Given the description of an element on the screen output the (x, y) to click on. 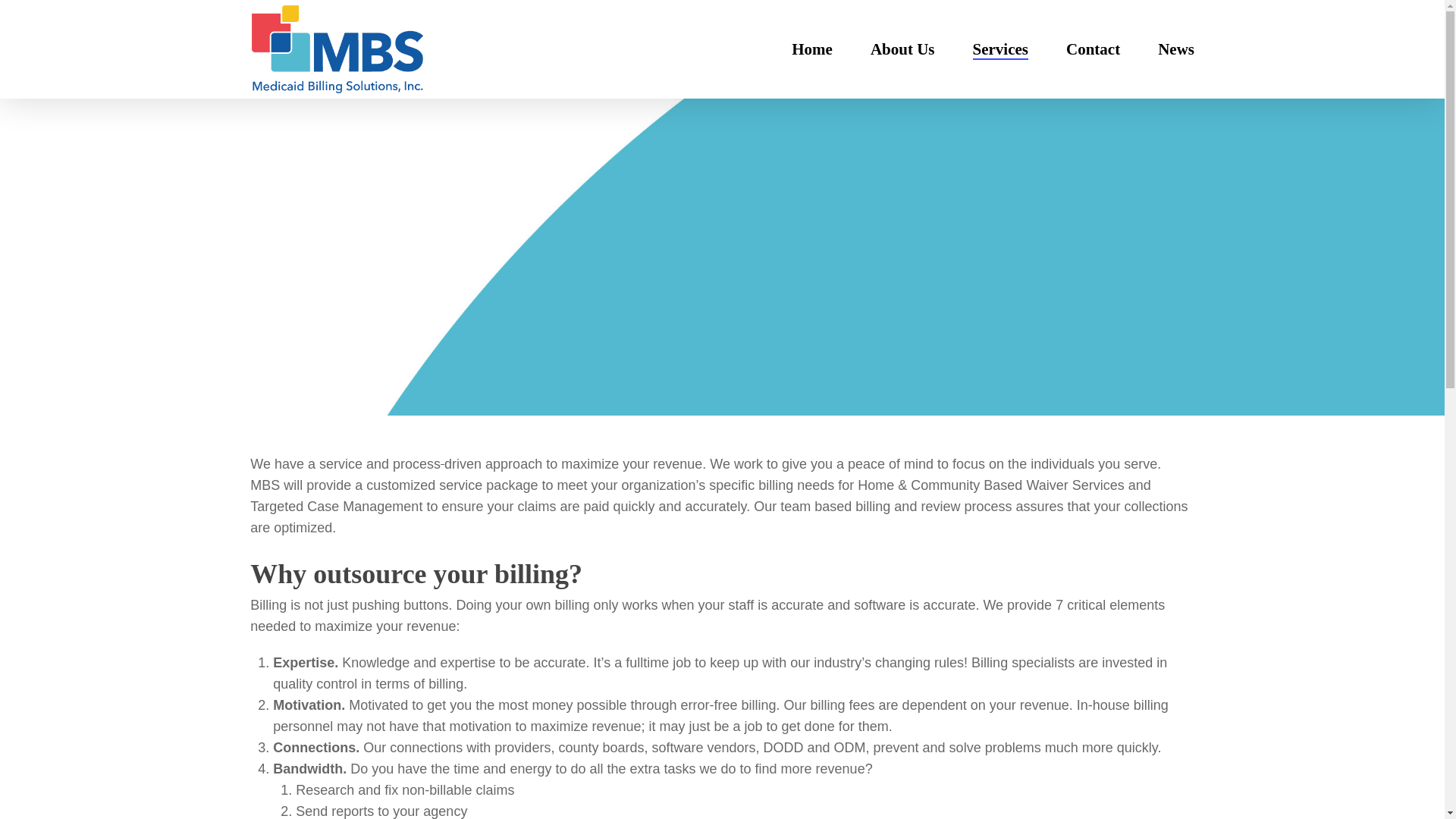
News (1175, 48)
Services (999, 48)
About Us (902, 48)
Home (812, 48)
Contact (1092, 48)
